Given the description of an element on the screen output the (x, y) to click on. 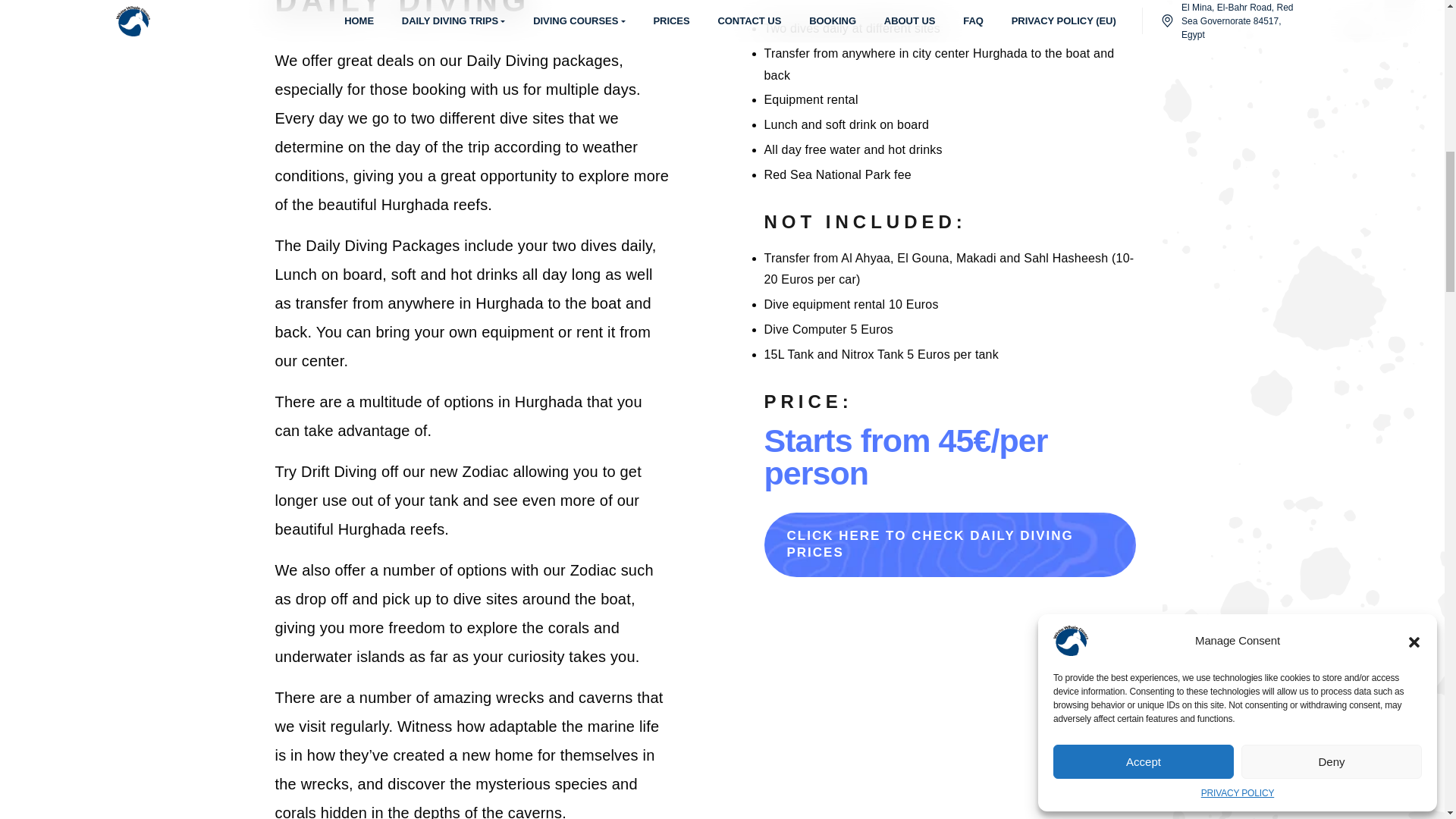
CLICK HERE TO CHECK DAILY DIVING PRICES (949, 544)
